Given the description of an element on the screen output the (x, y) to click on. 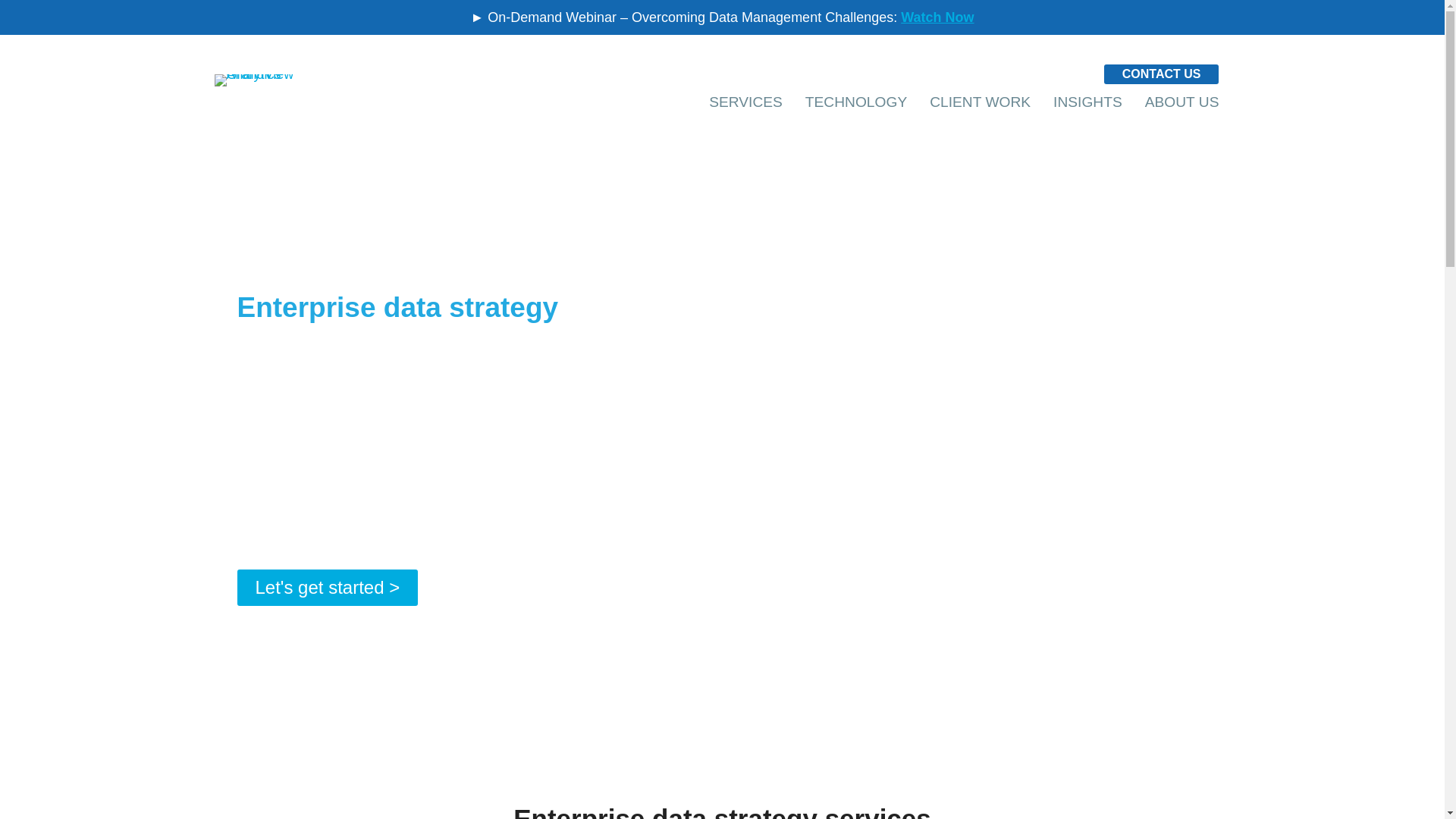
CLIENT WORK (980, 102)
ABOUT US (1182, 102)
TECHNOLOGY (855, 102)
INSIGHTS (1088, 102)
CONTACT US (1161, 74)
SERVICES (745, 102)
